Given the description of an element on the screen output the (x, y) to click on. 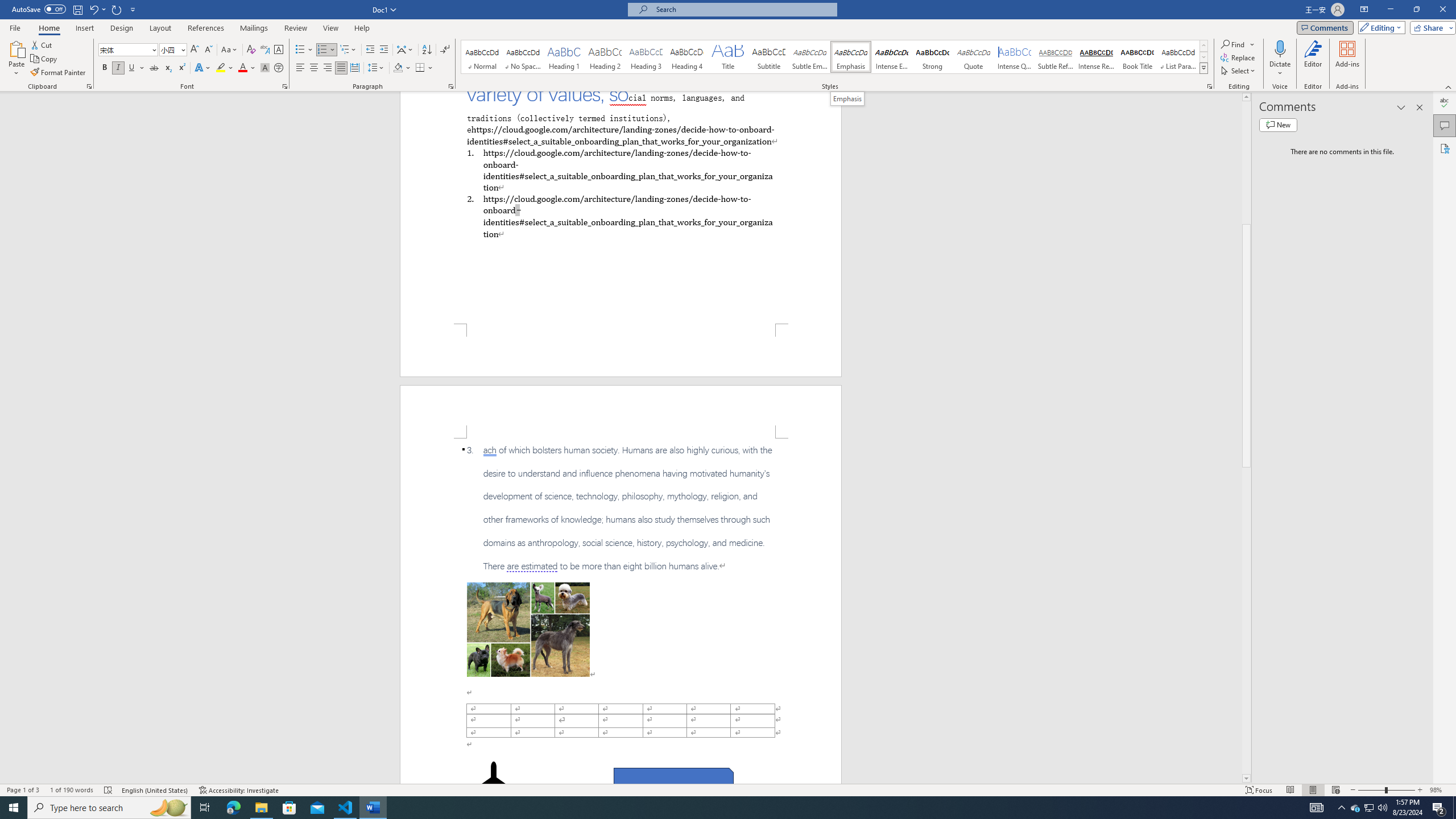
Rectangle: Diagonal Corners Snipped 2 (672, 781)
Intense Quote (1014, 56)
